Given the description of an element on the screen output the (x, y) to click on. 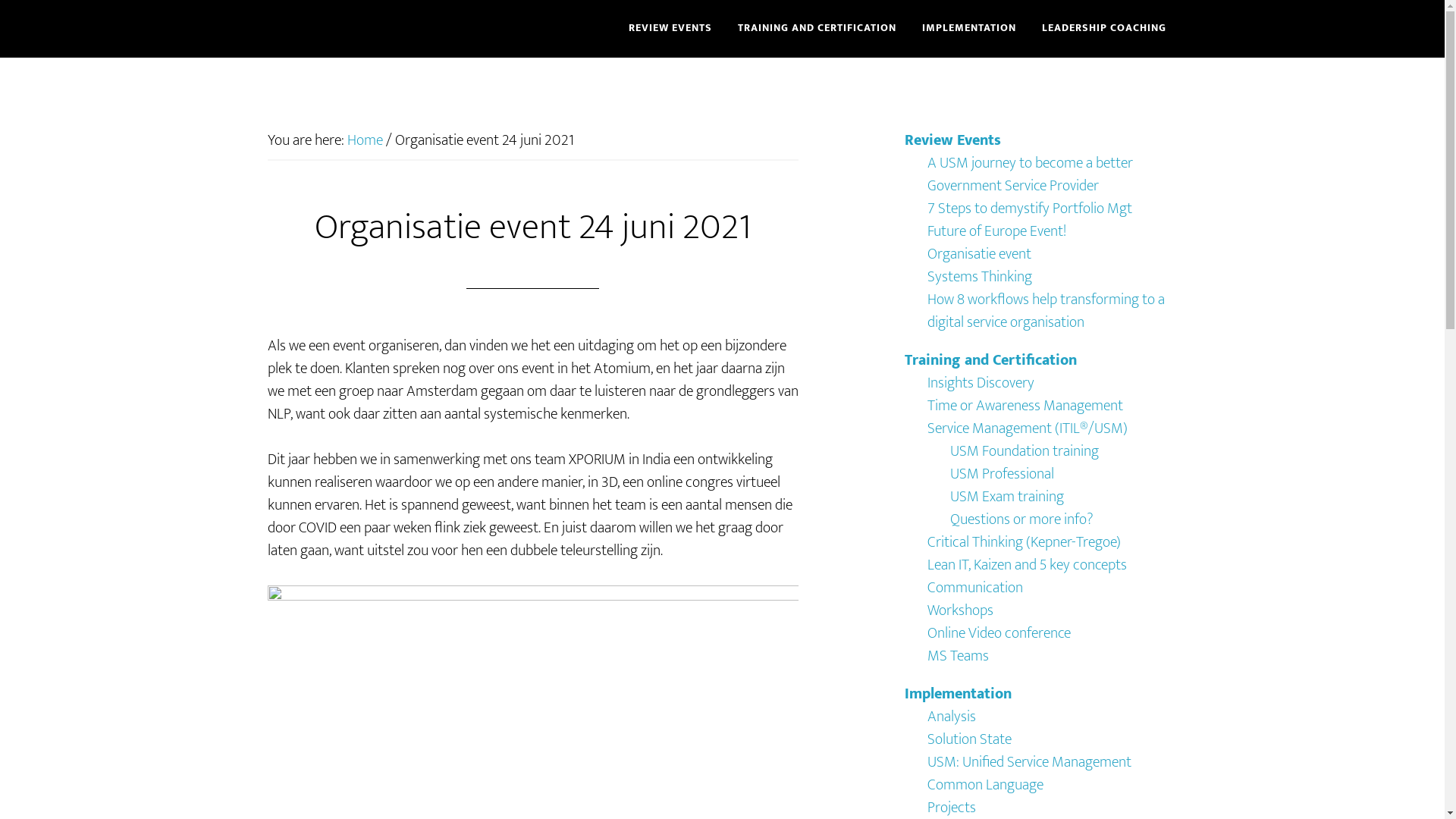
Workshops Element type: text (959, 610)
Implementation Element type: text (956, 693)
LEADERSHIP COACHING Element type: text (1102, 28)
TRAINING AND CERTIFICATION Element type: text (816, 28)
Questions or more info? Element type: text (1020, 519)
USM: Unified Service Management Element type: text (1028, 762)
REVIEW EVENTS Element type: text (670, 28)
Lean IT, Kaizen and 5 key concepts Element type: text (1026, 564)
USM Foundation training Element type: text (1023, 451)
Common Language Element type: text (984, 784)
Solution State Element type: text (968, 739)
BEGRIP.BE Element type: text (402, 28)
Critical Thinking (Kepner-Tregoe) Element type: text (1023, 542)
Home Element type: text (364, 140)
IMPLEMENTATION Element type: text (968, 28)
Online Video conference Element type: text (998, 633)
USM Exam training Element type: text (1006, 496)
Analysis Element type: text (950, 716)
Communication Element type: text (974, 587)
USM Professional Element type: text (1001, 473)
Review Events Element type: text (951, 140)
Future of Europe Event! Element type: text (995, 231)
Systems Thinking Element type: text (978, 276)
7 Steps to demystify Portfolio Mgt Element type: text (1028, 208)
Organisatie event Element type: text (978, 253)
MS Teams Element type: text (957, 655)
A USM journey to become a better Government Service Provider Element type: text (1029, 174)
Training and Certification Element type: text (989, 360)
Insights Discovery Element type: text (979, 382)
Time or Awareness Management Element type: text (1024, 405)
